Given the description of an element on the screen output the (x, y) to click on. 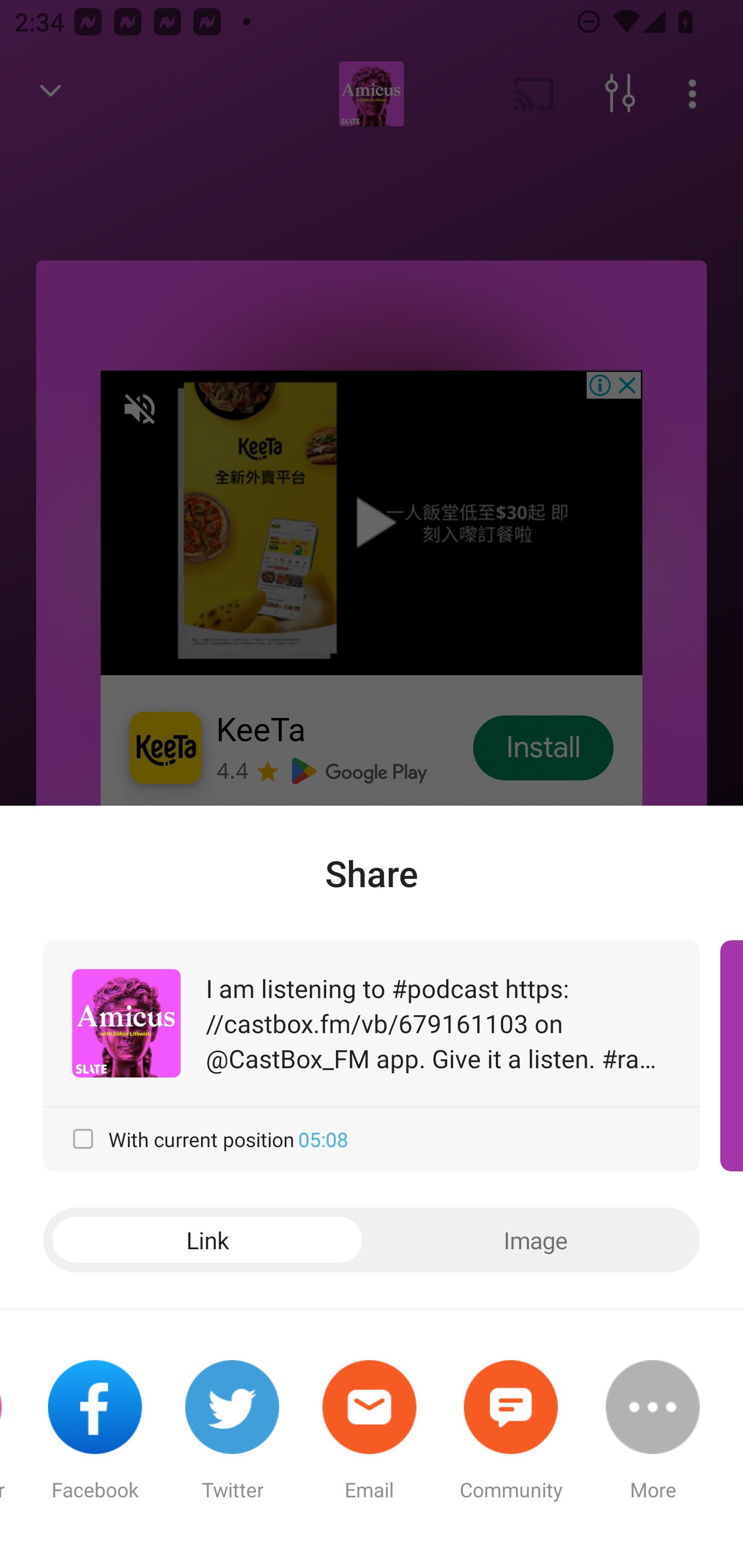
With current position 05:08 (371, 1138)
Link (207, 1240)
Image (535, 1240)
Facebook (94, 1438)
Twitter (232, 1438)
Email (369, 1438)
Community (510, 1438)
More (652, 1438)
